Given the description of an element on the screen output the (x, y) to click on. 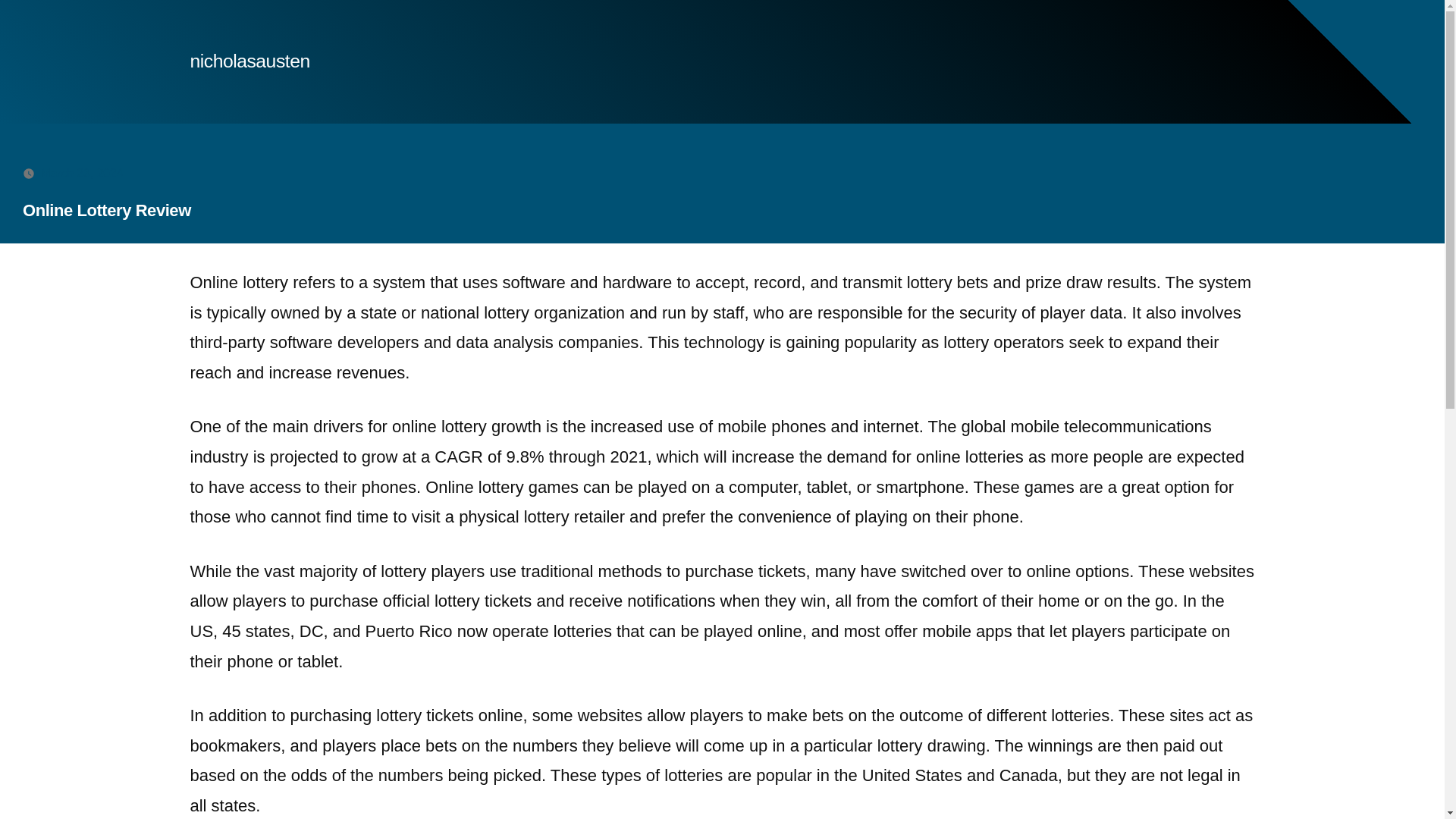
nicholasausten (248, 60)
March 23, 2024 (81, 173)
